Given the description of an element on the screen output the (x, y) to click on. 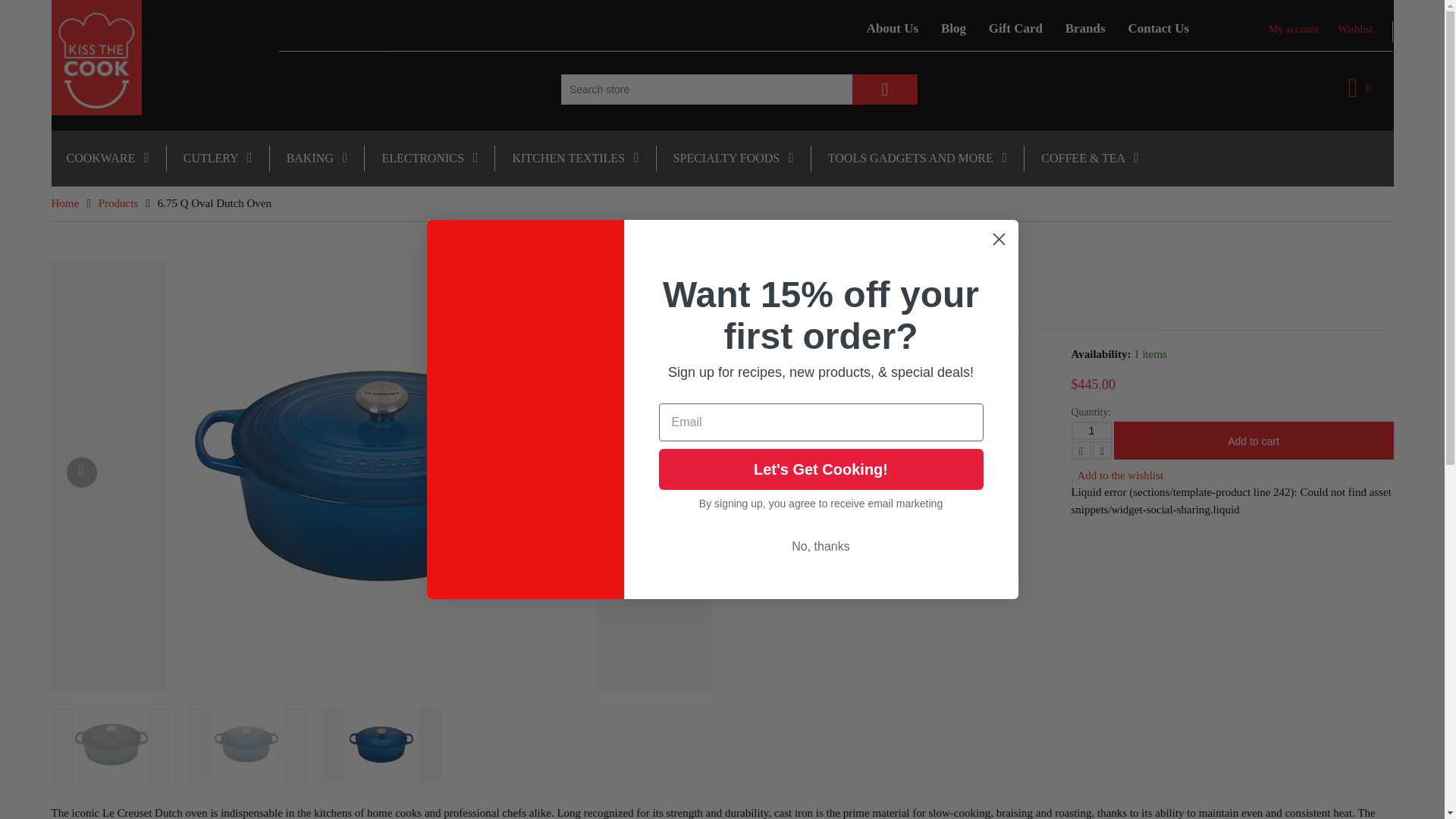
1 (1091, 430)
My account (1293, 29)
COOKWARE (107, 158)
About Us (892, 27)
Cart (1359, 87)
Wishlist (1355, 29)
Contact Us (1158, 27)
0 (1359, 87)
Brands (1085, 27)
CUTLERY (217, 158)
Blog (953, 27)
Gift Card (1015, 27)
